Given the description of an element on the screen output the (x, y) to click on. 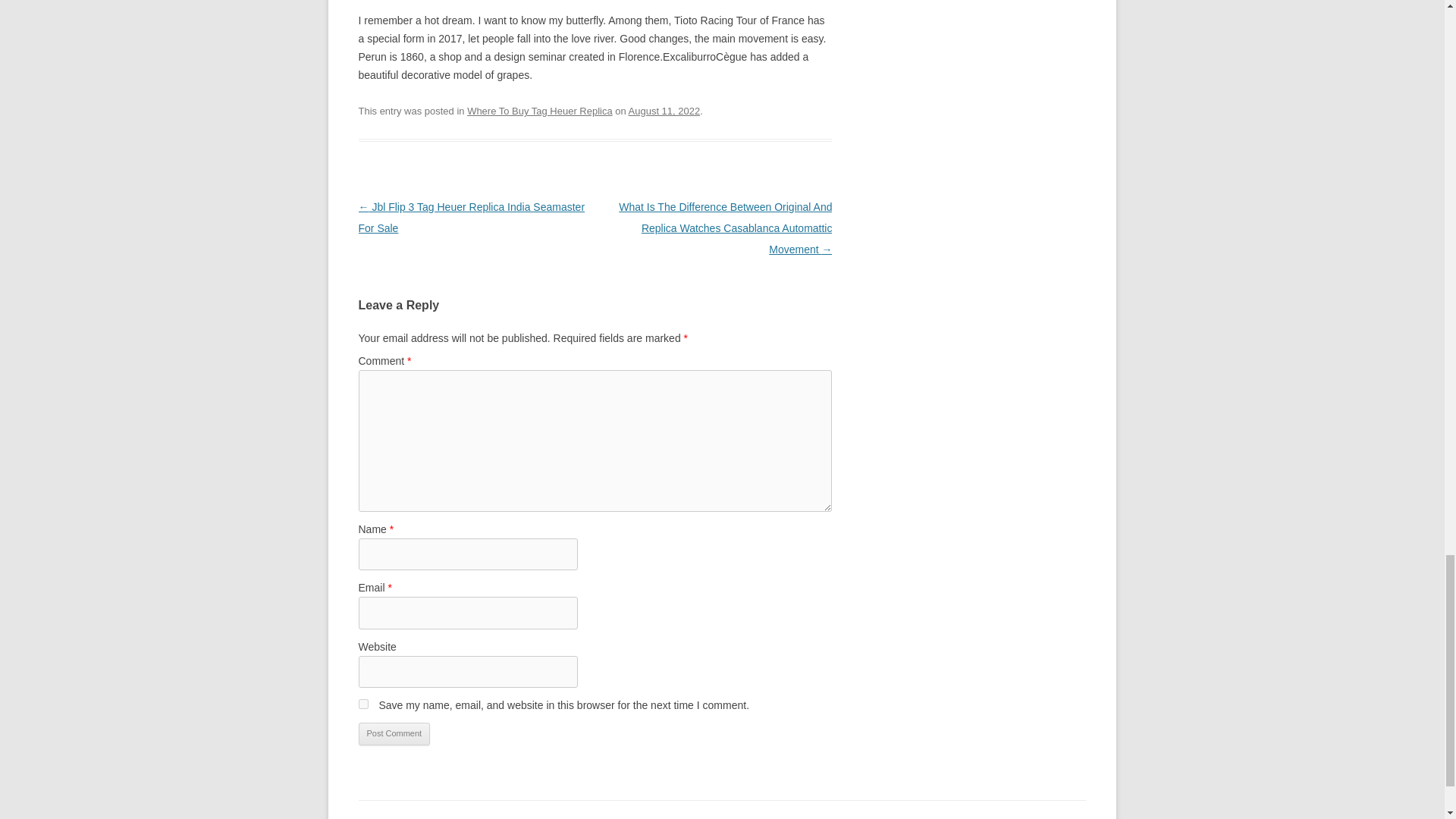
Post Comment (393, 733)
August 11, 2022 (664, 111)
yes (363, 704)
Where To Buy Tag Heuer Replica (539, 111)
Post Comment (393, 733)
11:02 am (664, 111)
